Given the description of an element on the screen output the (x, y) to click on. 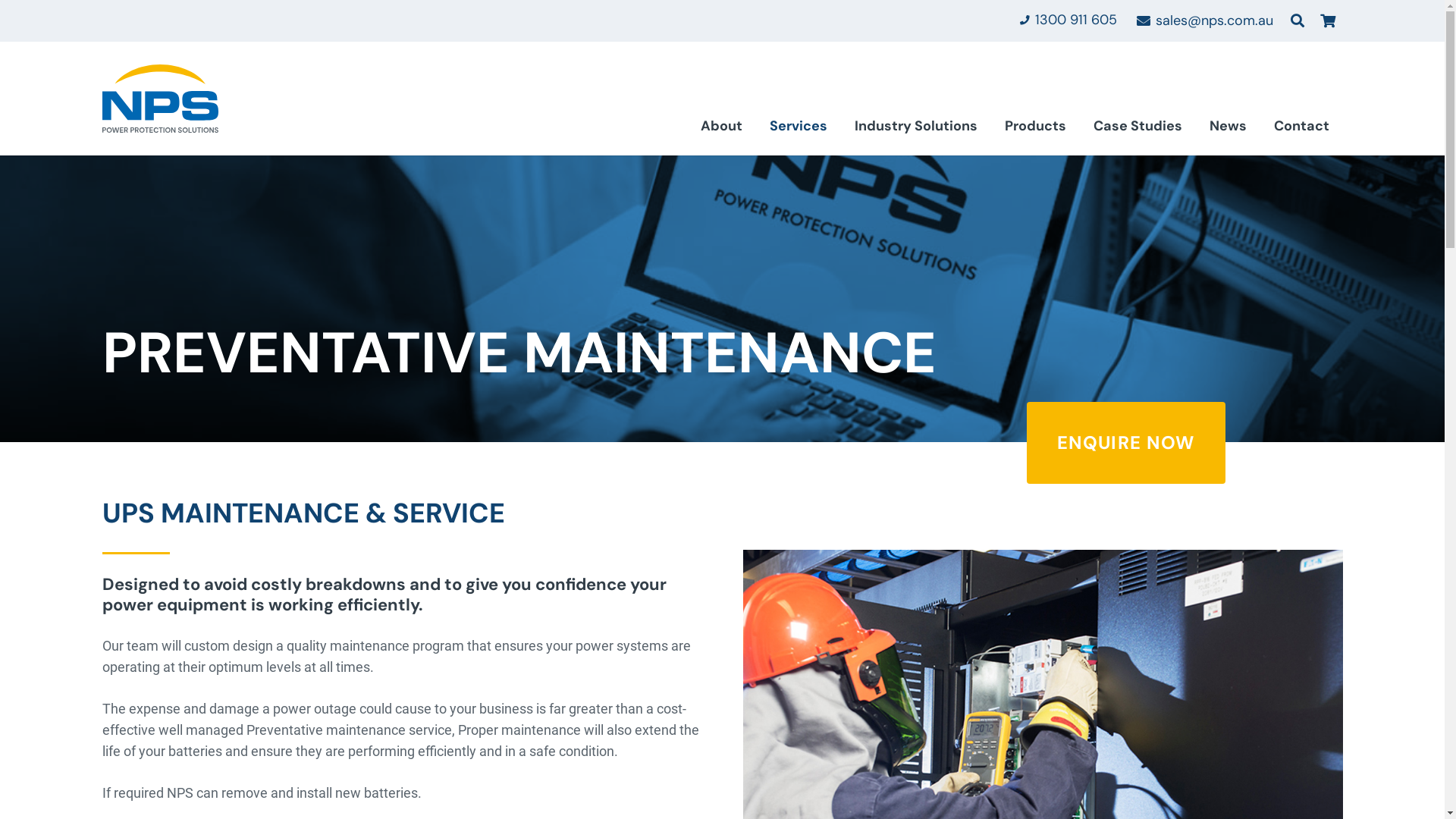
Industry Solutions Element type: text (915, 130)
1300 911 605 Element type: text (1068, 19)
Products Element type: text (1034, 130)
0 Element type: text (1327, 20)
Services Element type: text (797, 130)
About Element type: text (721, 130)
Contact Element type: text (1301, 130)
Case Studies Element type: text (1137, 130)
ENQUIRE NOW Element type: text (1125, 442)
sales@nps.com.au Element type: text (1204, 20)
News Element type: text (1227, 130)
